Given the description of an element on the screen output the (x, y) to click on. 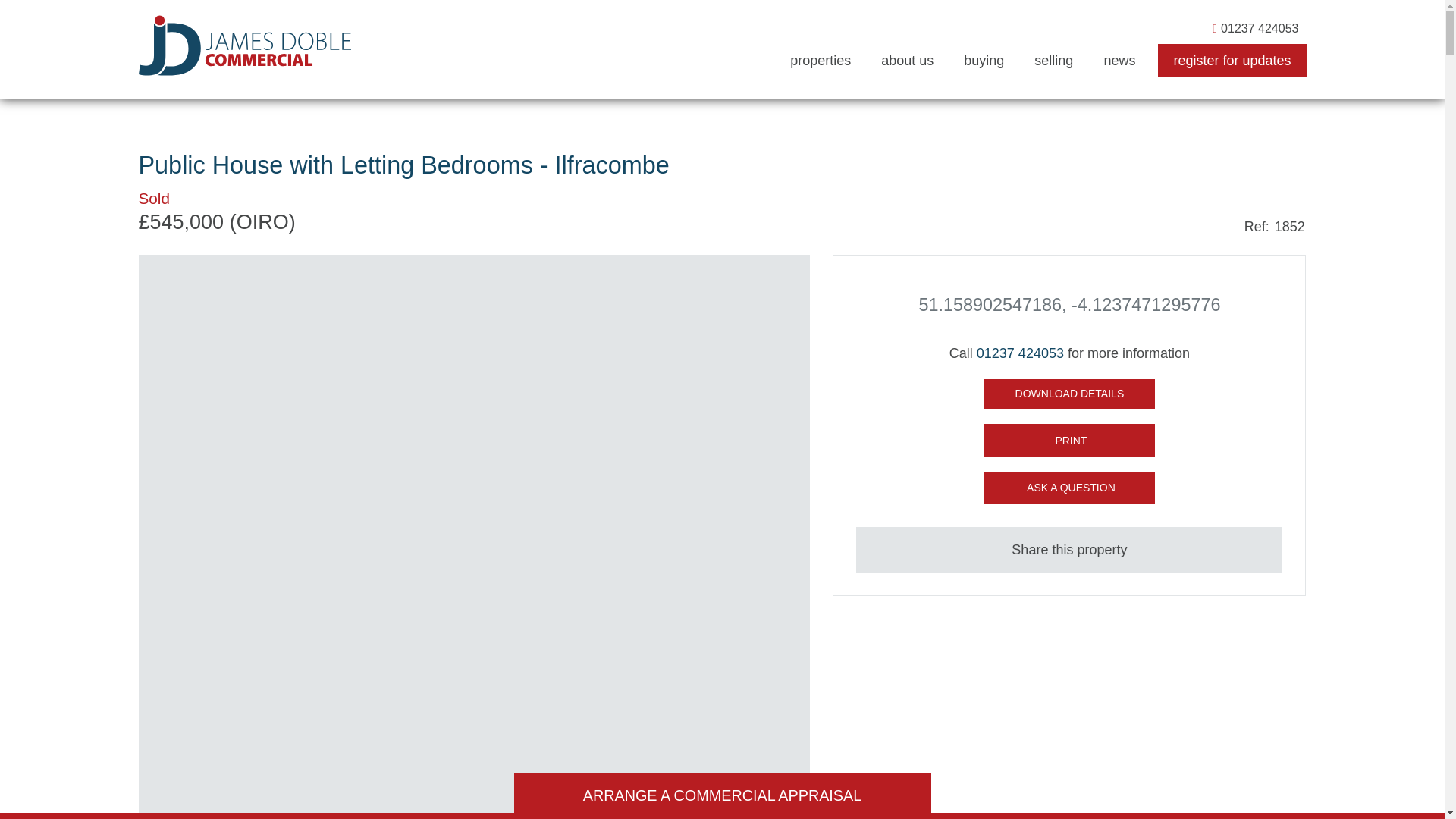
01237 424053 (1020, 353)
register for updates (1231, 60)
about us (907, 60)
properties (820, 60)
Homepage (244, 45)
01237 424053 (1255, 28)
DOWNLOAD DETAILS (1069, 393)
news (1118, 60)
selling (1053, 60)
buying (984, 60)
